Given the description of an element on the screen output the (x, y) to click on. 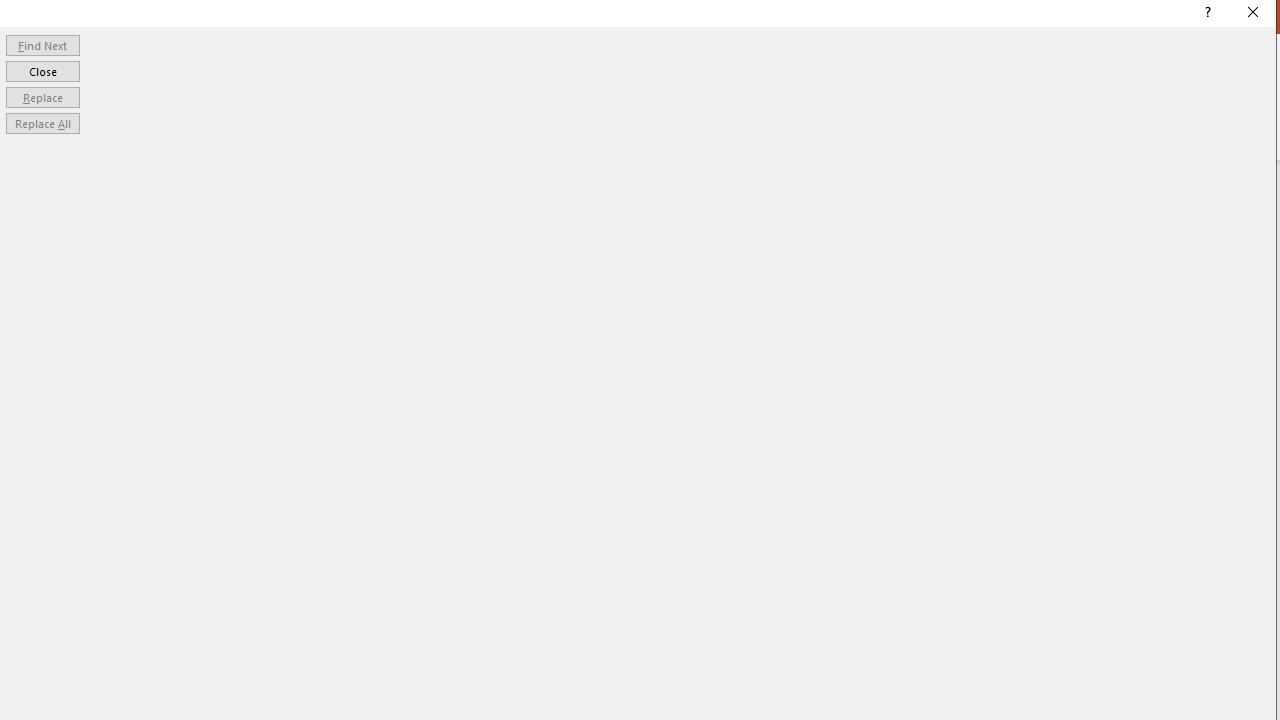
Replace (42, 96)
Replace All (42, 123)
Find Next (42, 44)
Context help (1206, 14)
